Given the description of an element on the screen output the (x, y) to click on. 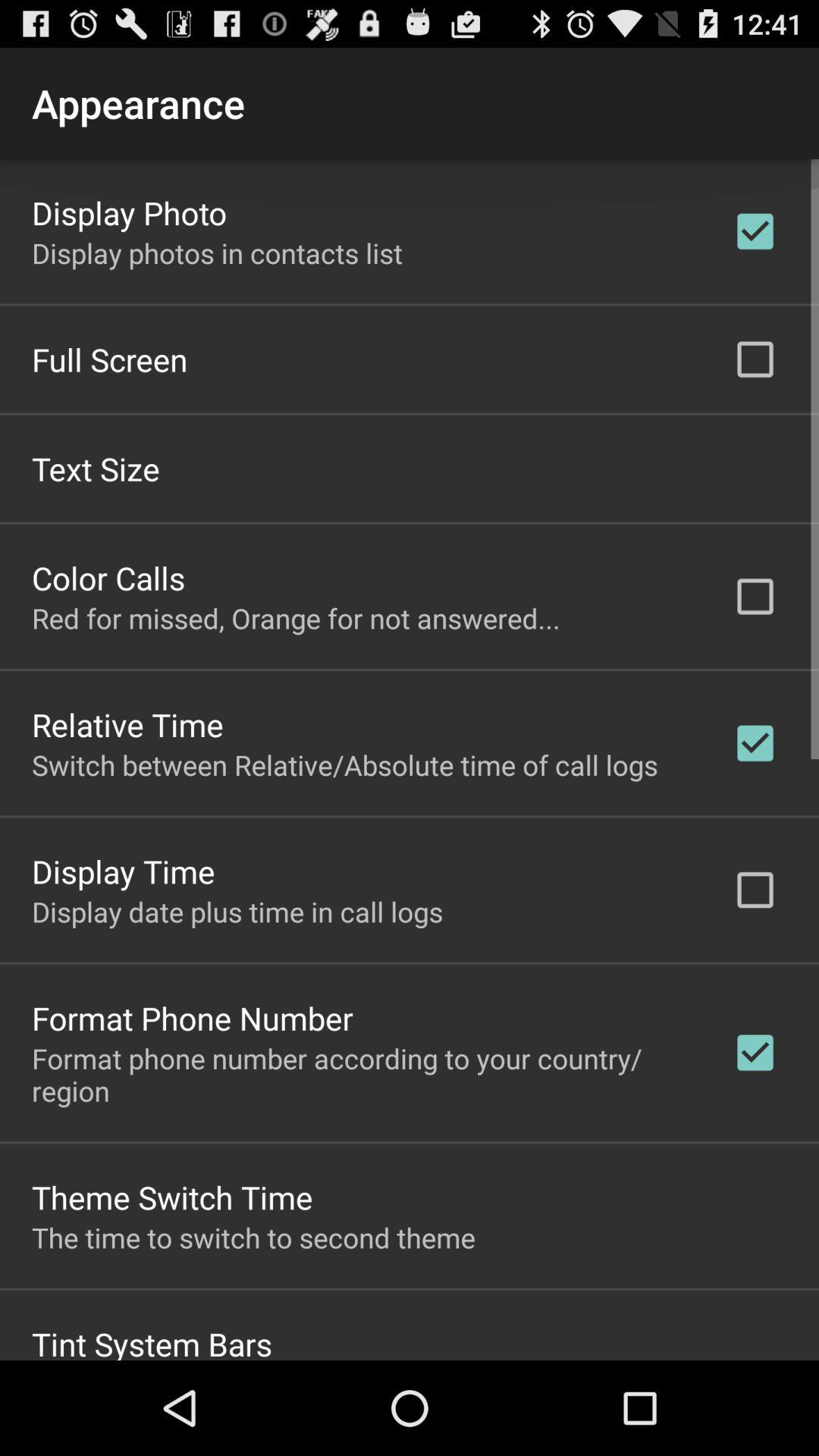
flip until the the time to icon (253, 1236)
